Given the description of an element on the screen output the (x, y) to click on. 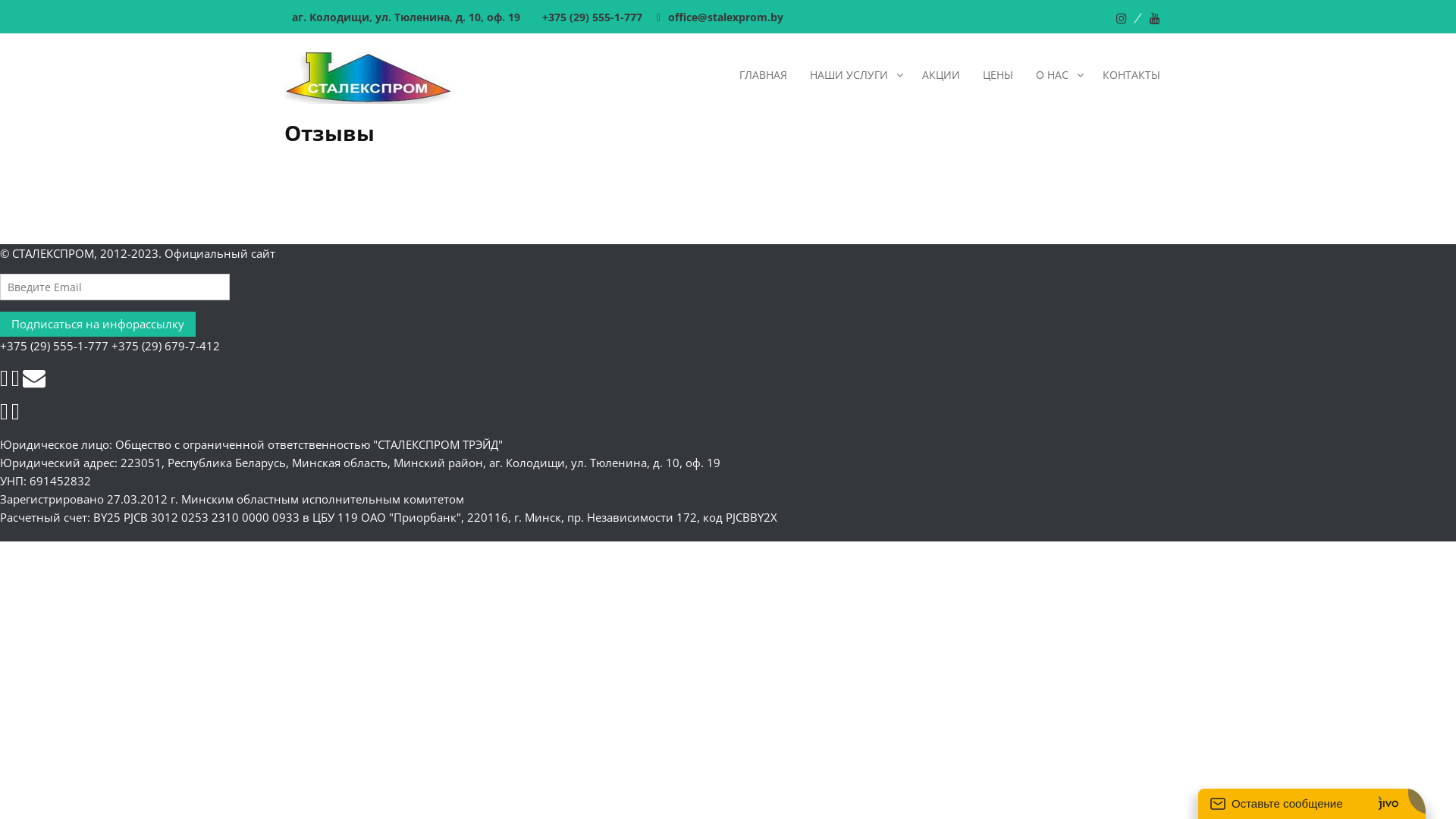
YouTube Element type: text (1154, 18)
office@stalexprom.by Element type: text (725, 16)
+375 (29) 555-1-777 Element type: text (593, 16)
+375 (29) 679-7-412 Element type: text (165, 345)
Instagram Element type: text (1130, 18)
+375 (29) 555-1-777 Element type: text (54, 345)
